Given the description of an element on the screen output the (x, y) to click on. 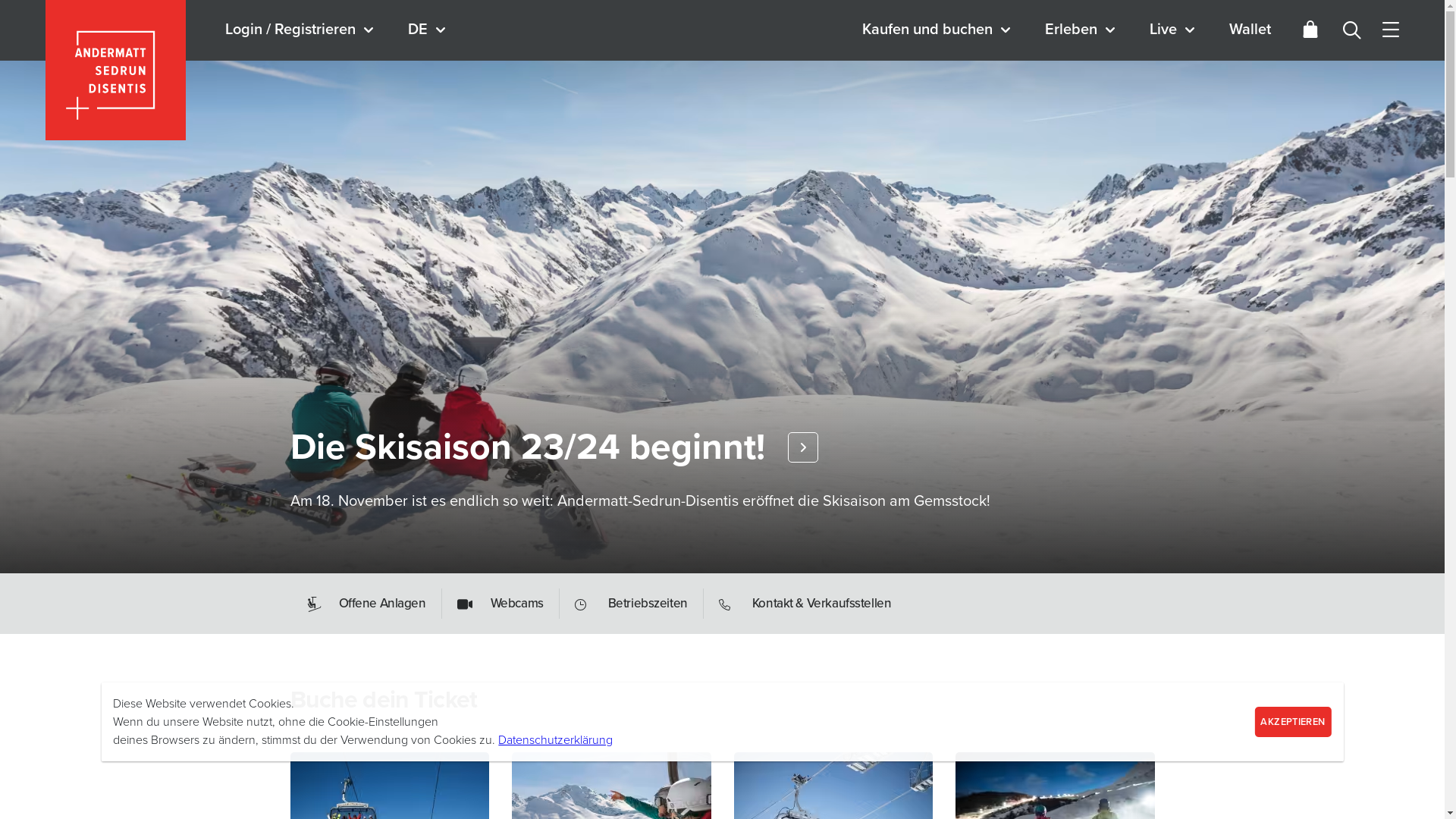
Warenkorb Element type: hover (1310, 29)
Offene Anlagen Element type: text (372, 603)
Freunde beim Skifahren vor Bergpanorama Element type: hover (722, 286)
AKZEPTIEREN Element type: text (1292, 721)
Betriebszeiten Element type: text (631, 603)
Die Skisaison 23/24 beginnt! Element type: text (553, 447)
Live Element type: text (1174, 29)
Wallet Element type: text (1250, 29)
Webcams Element type: text (500, 603)
Kaufen und buchen Element type: text (938, 29)
Kontakt & Verkaufsstellen Element type: text (804, 603)
Erleben Element type: text (1081, 29)
